Given the description of an element on the screen output the (x, y) to click on. 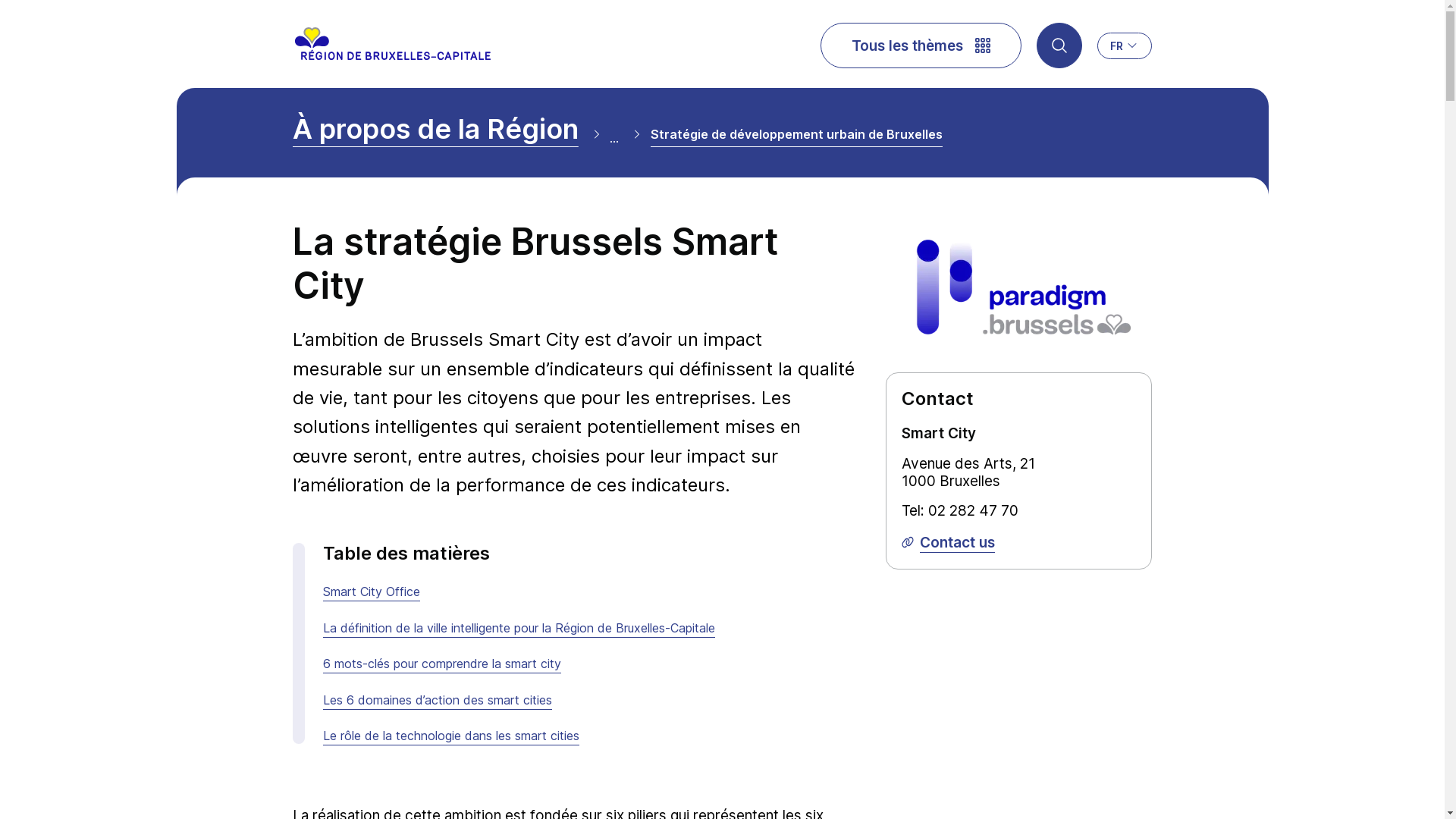
Contact us Element type: text (947, 543)
Smart City Office Element type: text (371, 591)
FR Element type: text (1124, 44)
